Given the description of an element on the screen output the (x, y) to click on. 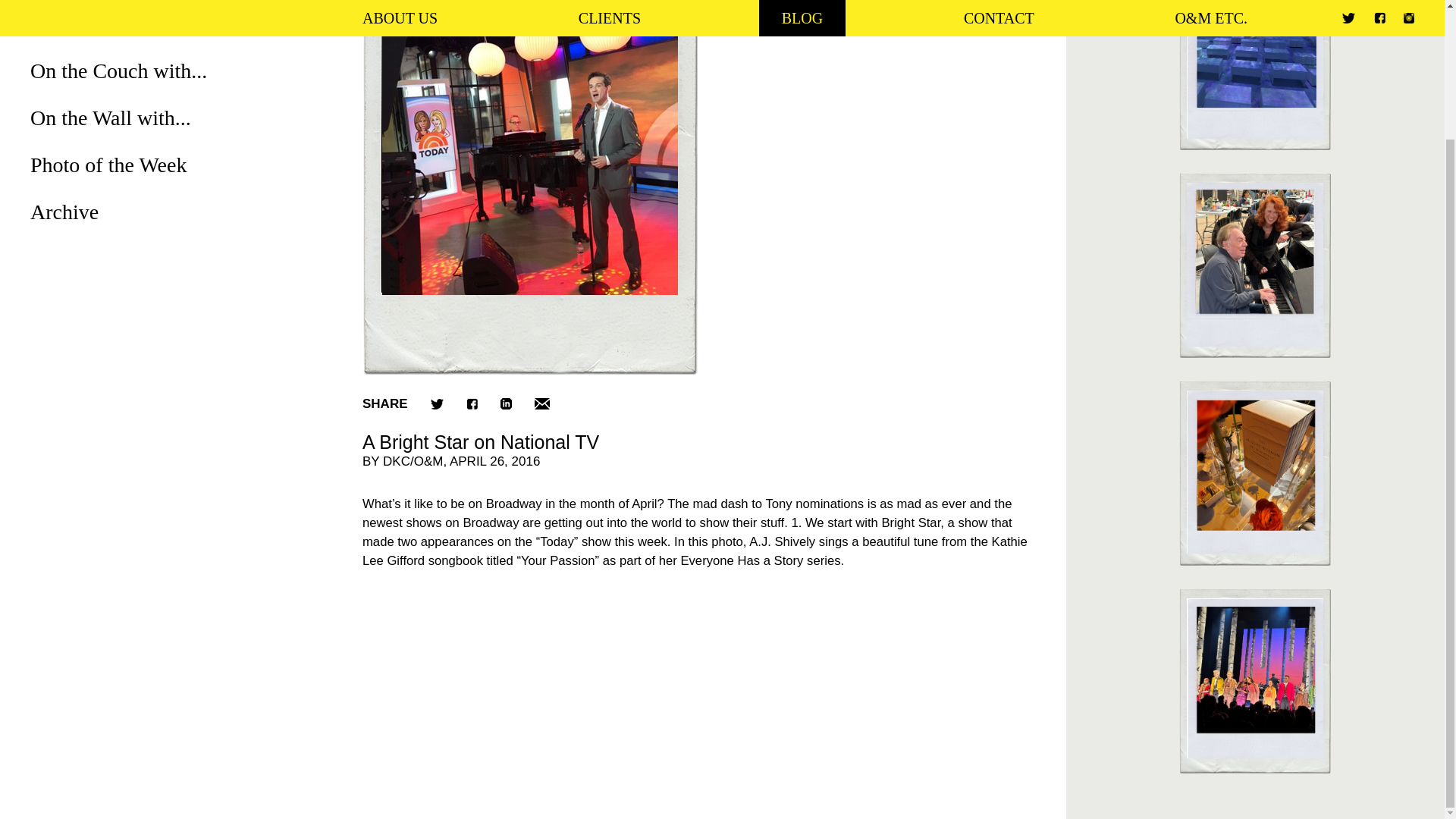
Email (542, 403)
Facebook (471, 403)
LinkedIn (506, 403)
On the Couch with... (118, 70)
Twitter (437, 403)
On the Wall with... (110, 117)
News (54, 24)
